Given the description of an element on the screen output the (x, y) to click on. 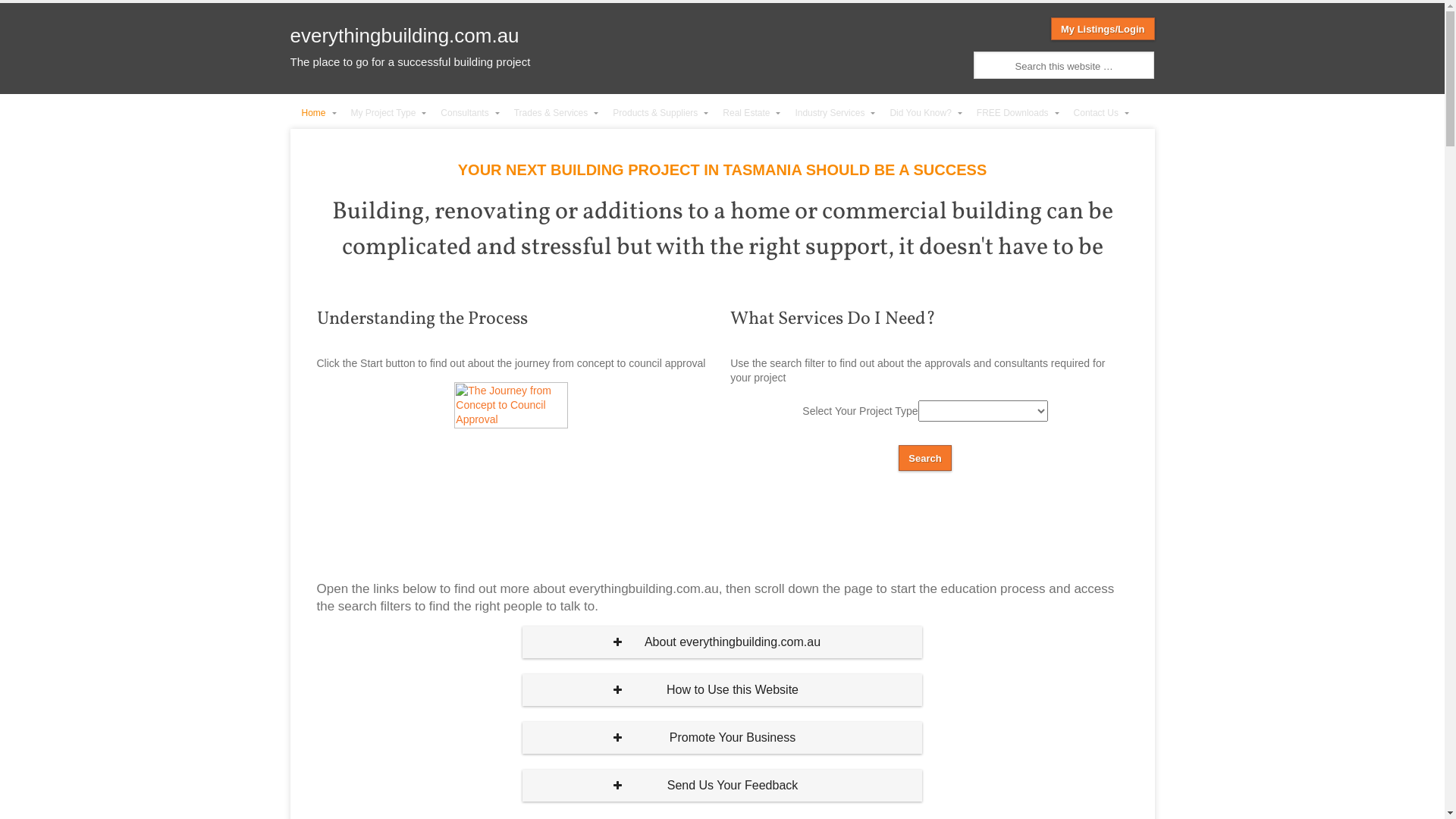
everythingbuilding.com.au Element type: text (403, 35)
Home Element type: text (313, 112)
Products & Suppliers Element type: text (656, 112)
Industry Services Element type: text (830, 112)
The Journey from Concept to Council Approval Element type: hover (510, 443)
Contact Us Element type: text (1097, 112)
Real Estate Element type: text (747, 112)
FREE Downloads Element type: text (1013, 112)
Did You Know? Element type: text (921, 112)
My Listings/Login Element type: text (1102, 28)
My Project Type Element type: text (384, 112)
Search Element type: text (924, 457)
Trades & Services Element type: text (552, 112)
Consultants Element type: text (465, 112)
Search Element type: text (26, 12)
